Given the description of an element on the screen output the (x, y) to click on. 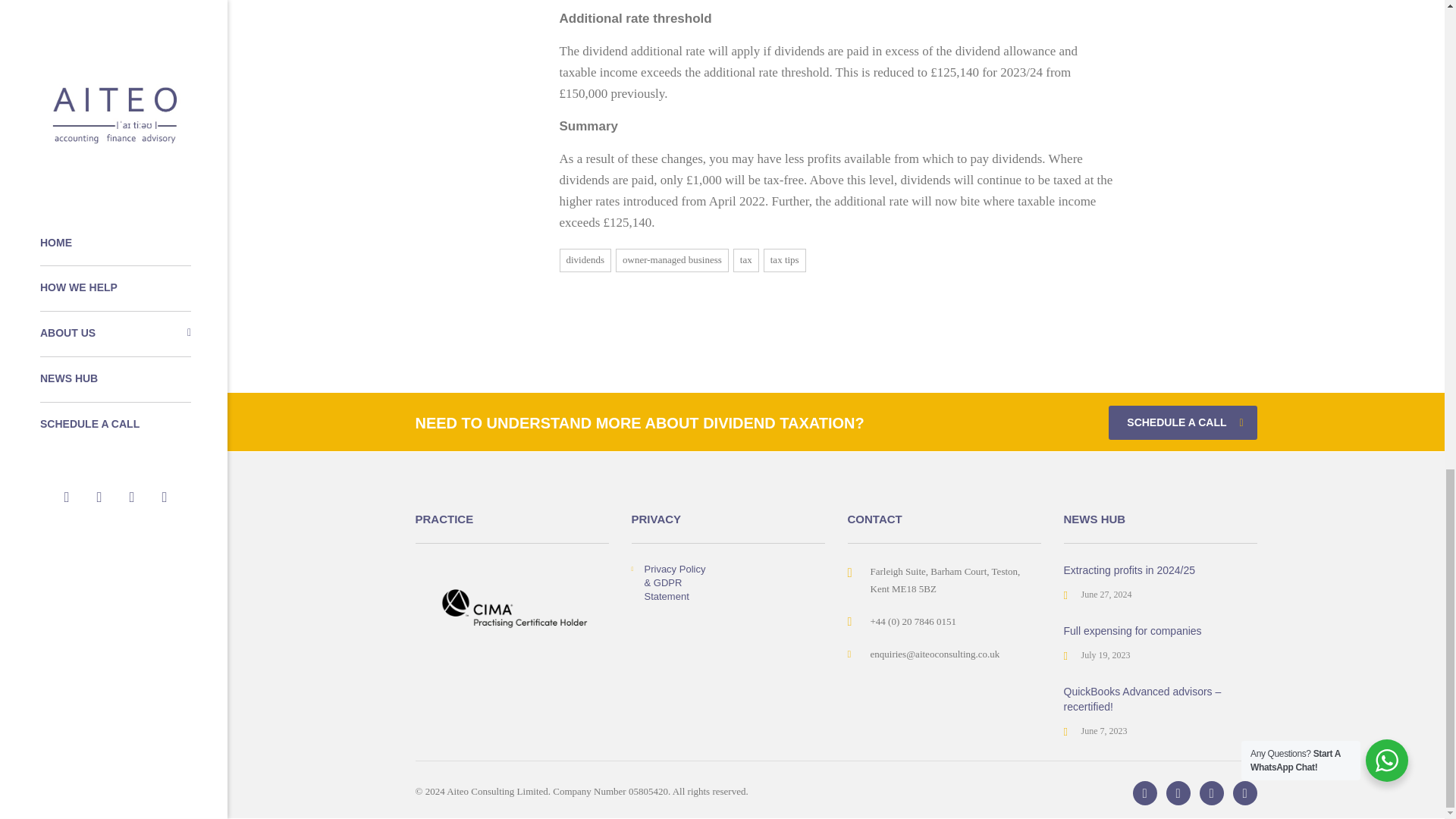
tax (745, 260)
Full expensing for companies (1131, 630)
owner-managed business (672, 260)
dividends (585, 260)
tax tips (784, 260)
